Given the description of an element on the screen output the (x, y) to click on. 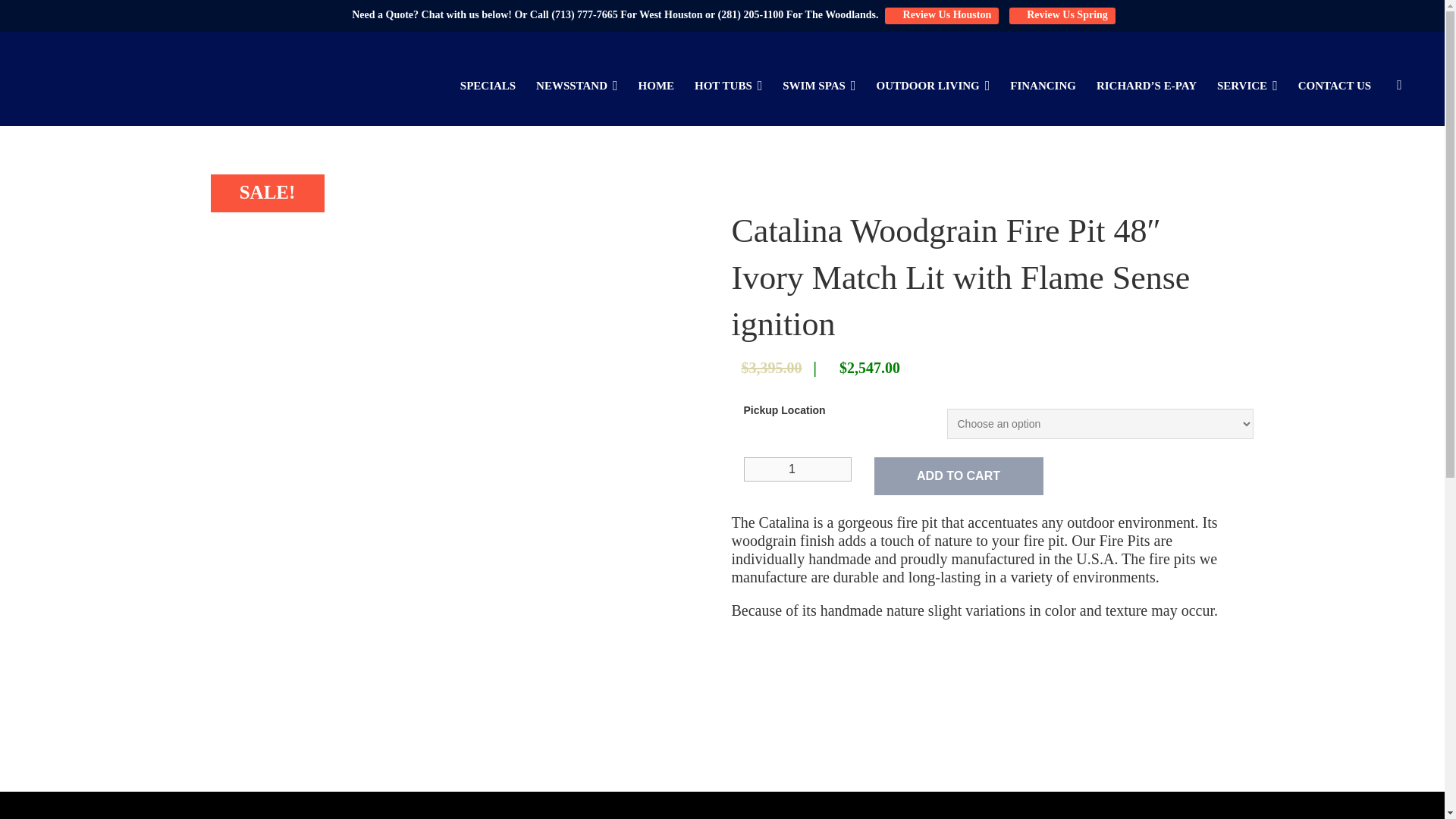
1 (796, 469)
